Given the description of an element on the screen output the (x, y) to click on. 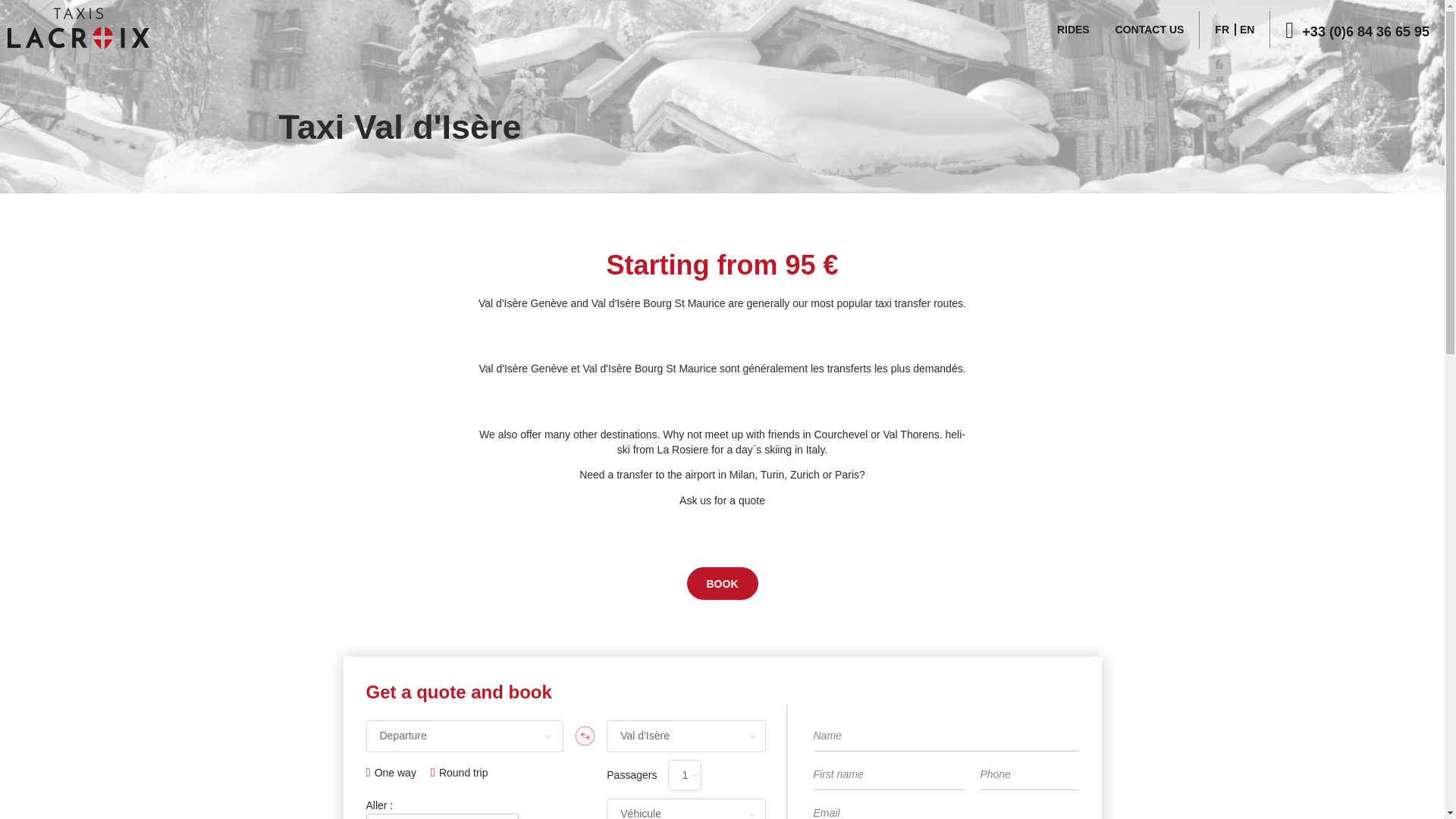
CONTACT US (1150, 29)
FR (1221, 29)
EN (1246, 29)
BOOK (722, 583)
RIDES (1073, 29)
